Given the description of an element on the screen output the (x, y) to click on. 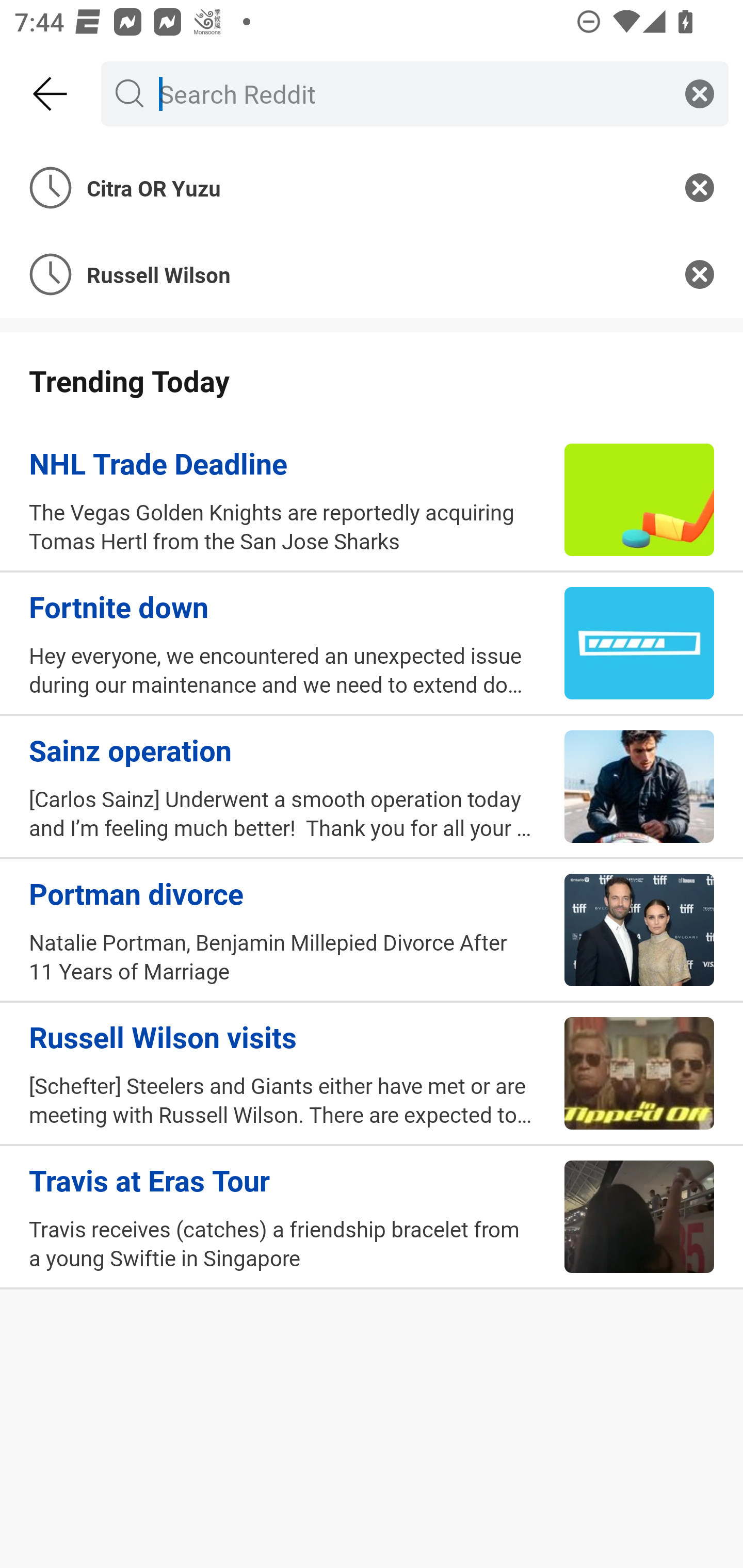
Back (50, 93)
Search Reddit (410, 93)
Clear search (699, 93)
Citra OR Yuzu Recent search: Citra OR Yuzu Remove (371, 187)
Remove (699, 187)
Remove (699, 274)
